Given the description of an element on the screen output the (x, y) to click on. 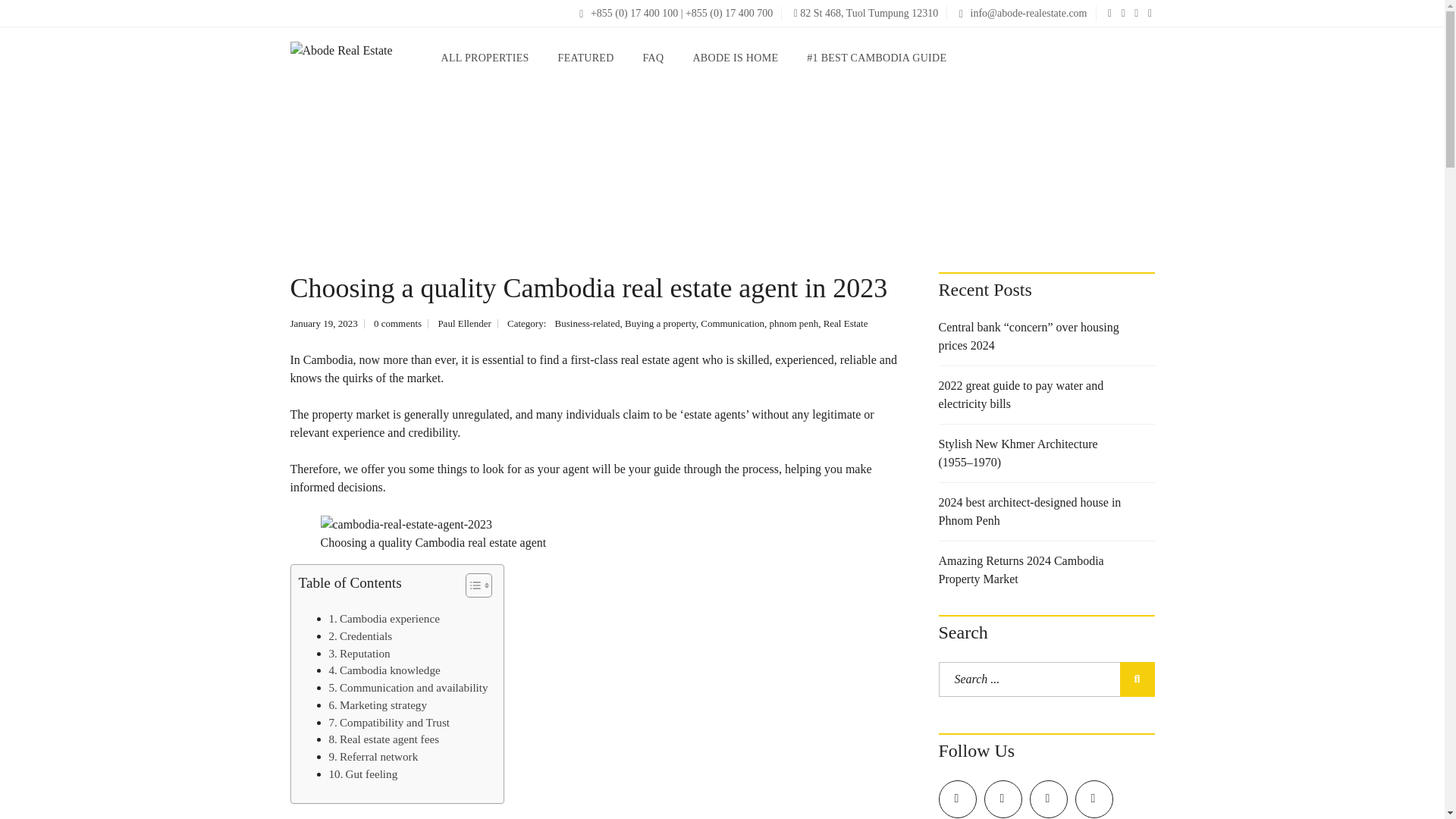
Communication (732, 323)
Real estate agent fees (384, 739)
Communication and availability (408, 687)
Reputation (359, 652)
Gut feeling (363, 773)
Cambodia knowledge (385, 670)
FEATURED (585, 57)
Communication and availability (408, 687)
Marketing strategy (378, 705)
Marketing strategy (378, 705)
